Given the description of an element on the screen output the (x, y) to click on. 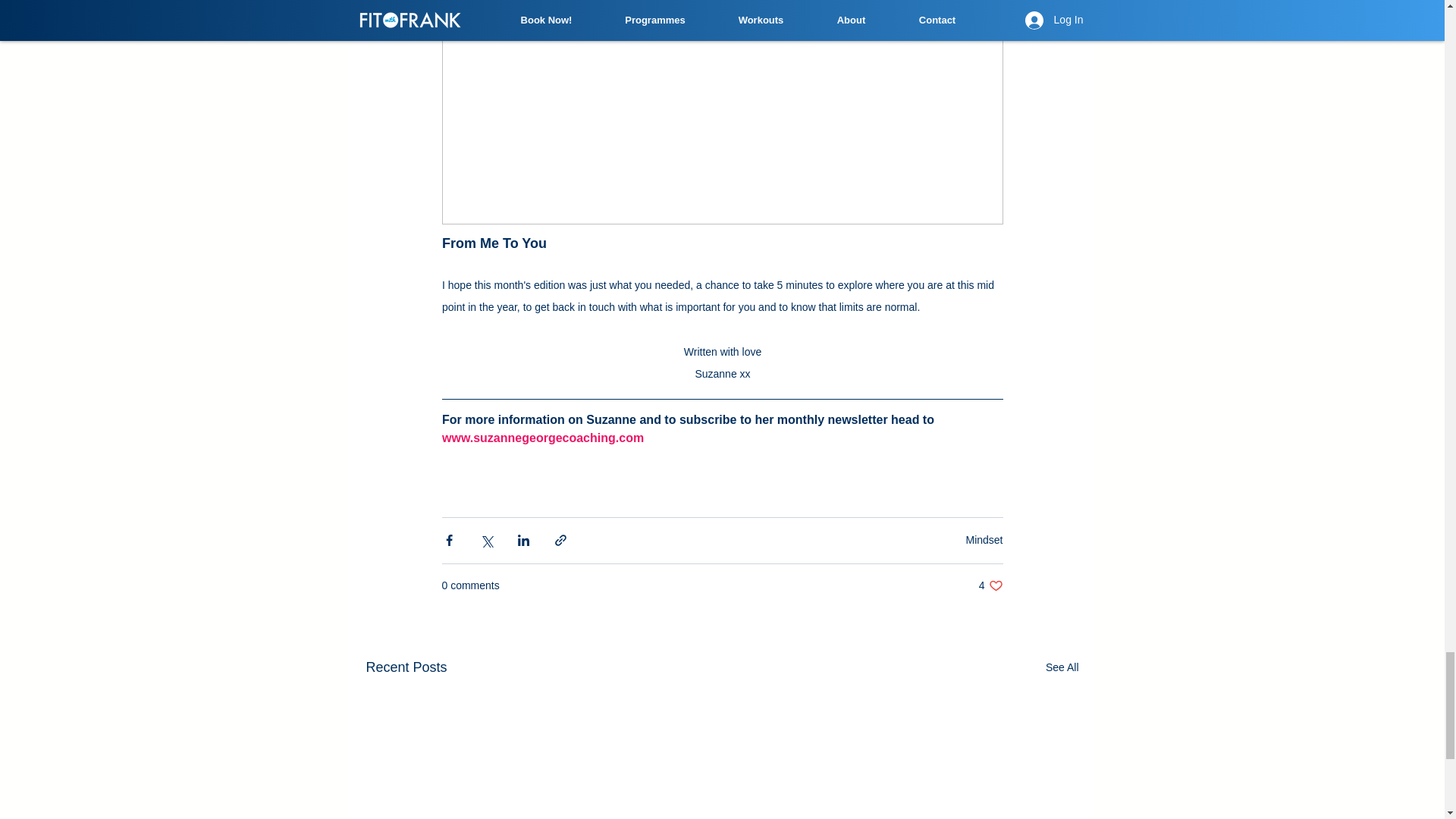
See All (1061, 667)
Mindset (984, 539)
www.suzannegeorgecoaching.com (990, 585)
